Given the description of an element on the screen output the (x, y) to click on. 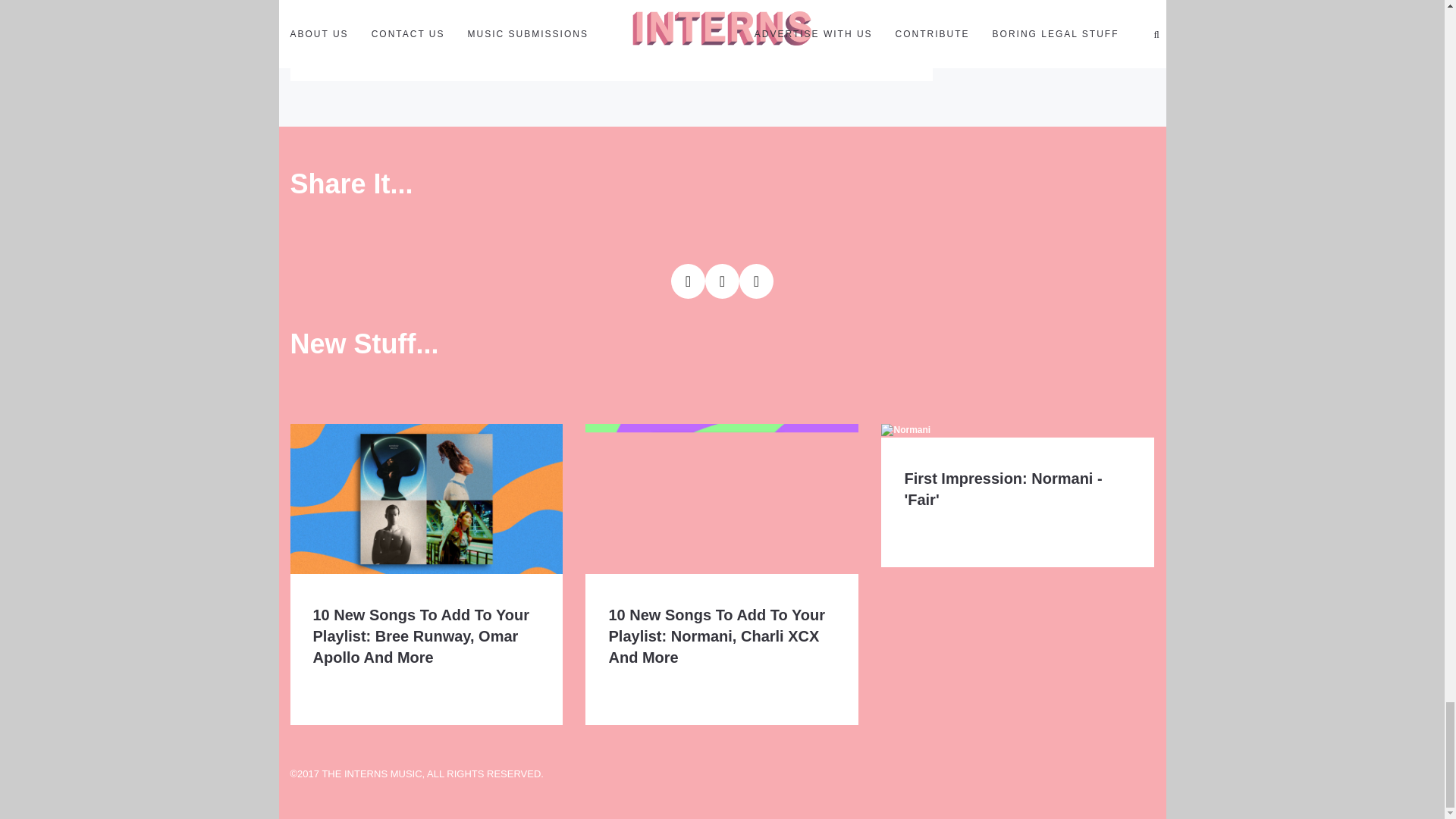
10 songs you need to hear this week (381, 57)
First Impression: Normani - 'Fair' (1003, 488)
new music (489, 57)
